Given the description of an element on the screen output the (x, y) to click on. 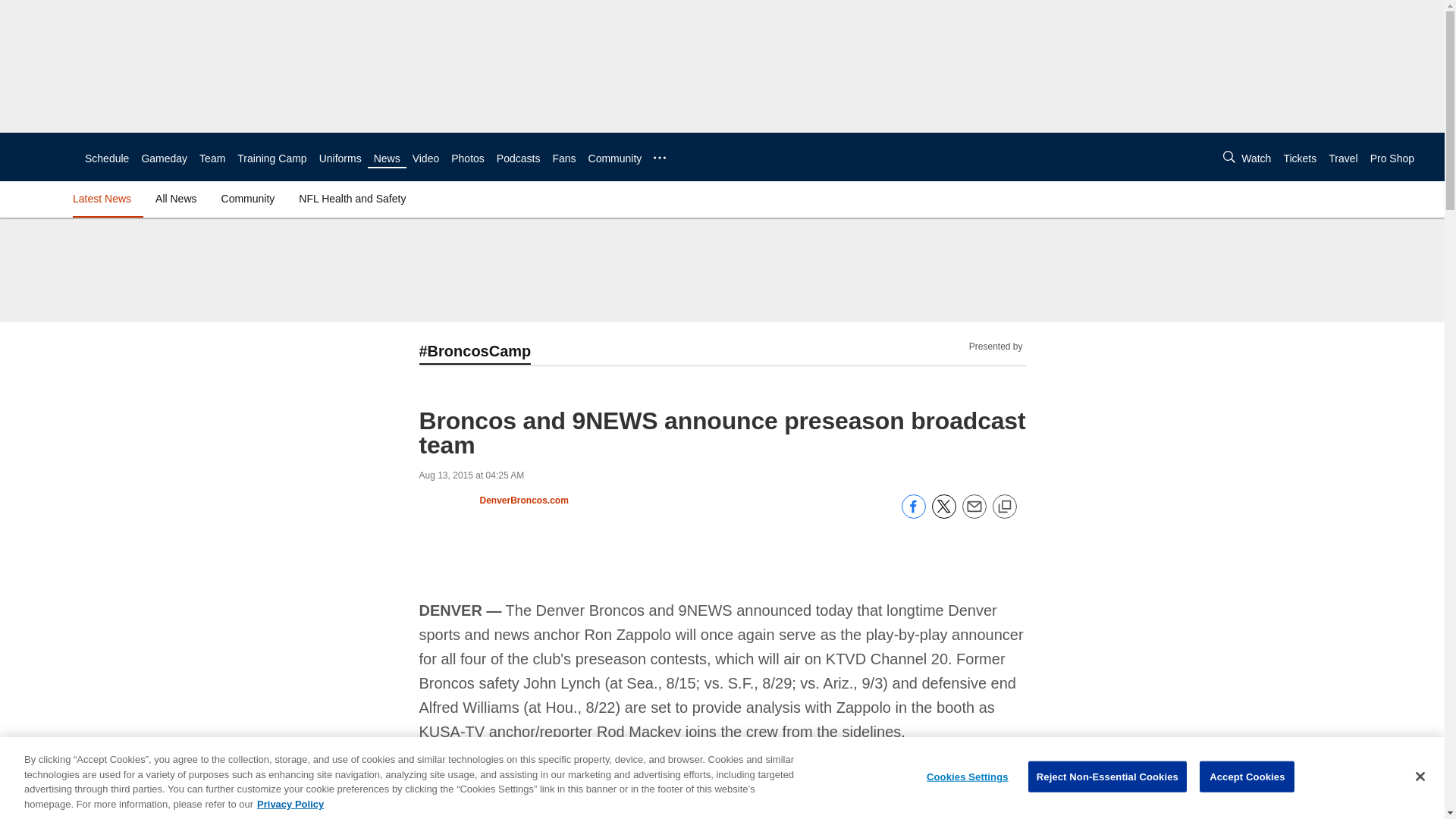
Gameday (164, 158)
Community (615, 158)
Video (425, 158)
News (387, 158)
All News (175, 198)
... (659, 157)
News (387, 158)
Fans (563, 158)
Podcasts (518, 158)
Pro Shop (1391, 158)
